Given the description of an element on the screen output the (x, y) to click on. 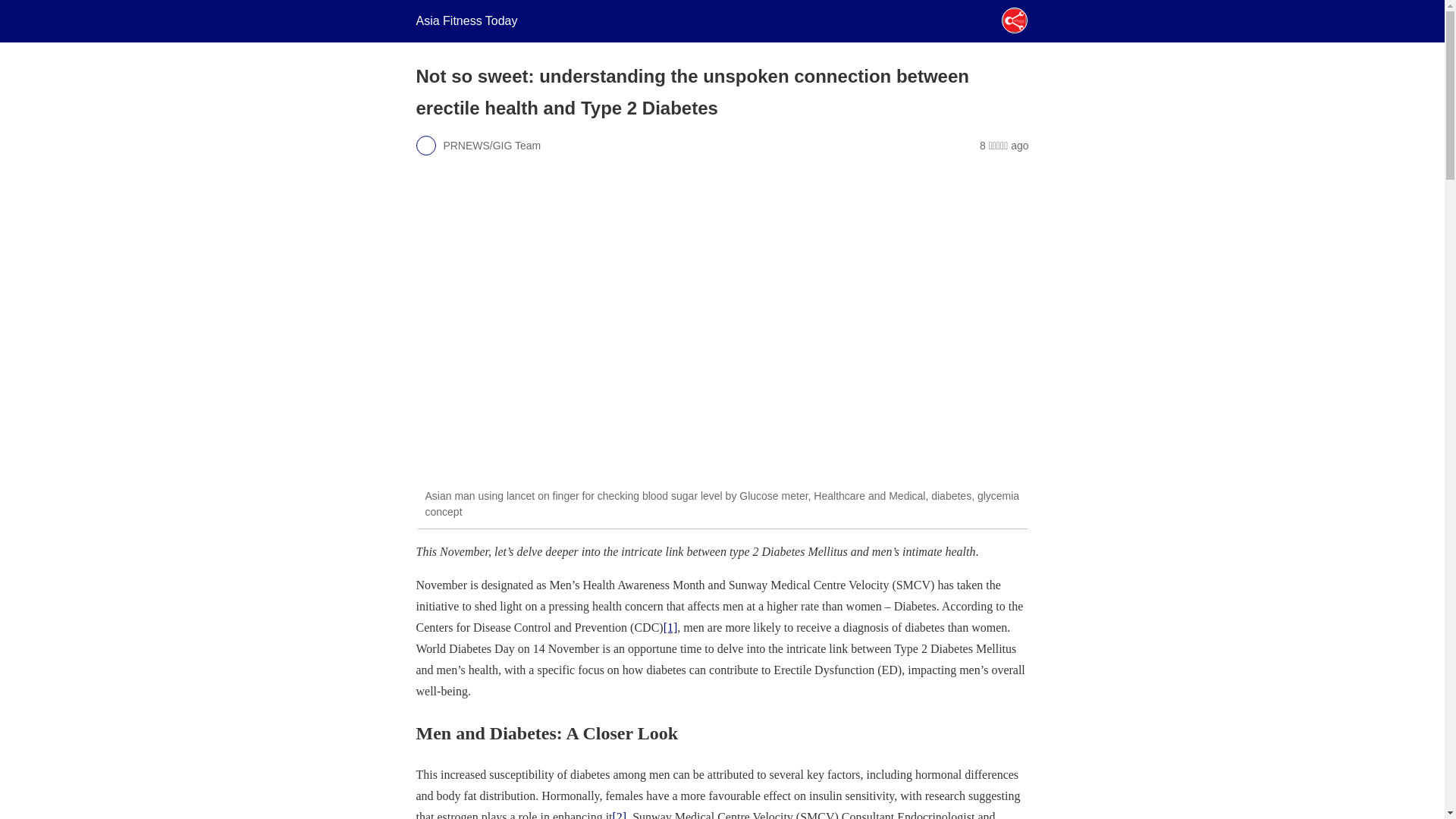
Asia Fitness Today (465, 20)
